Given the description of an element on the screen output the (x, y) to click on. 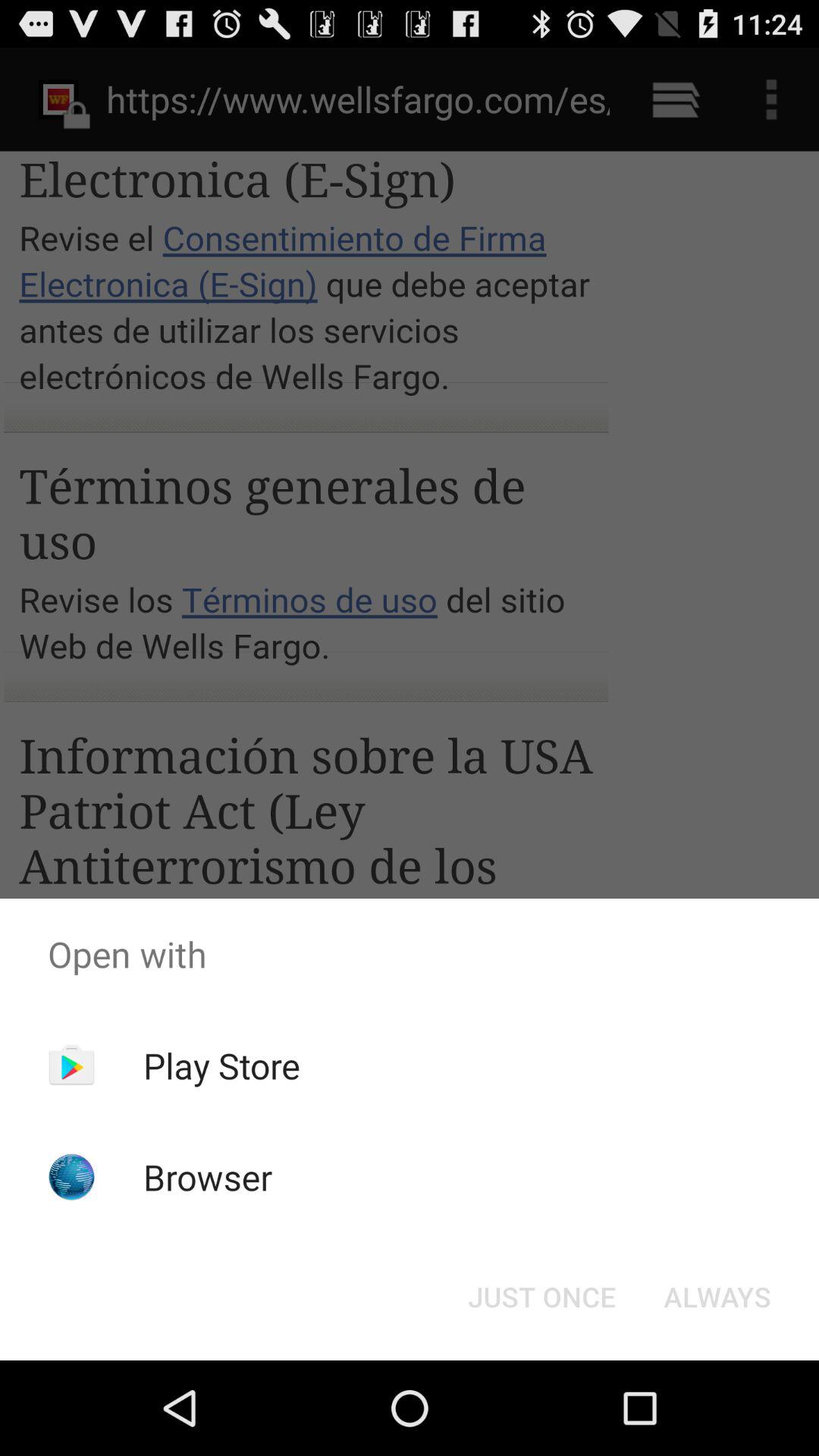
select the app above browser item (221, 1065)
